Given the description of an element on the screen output the (x, y) to click on. 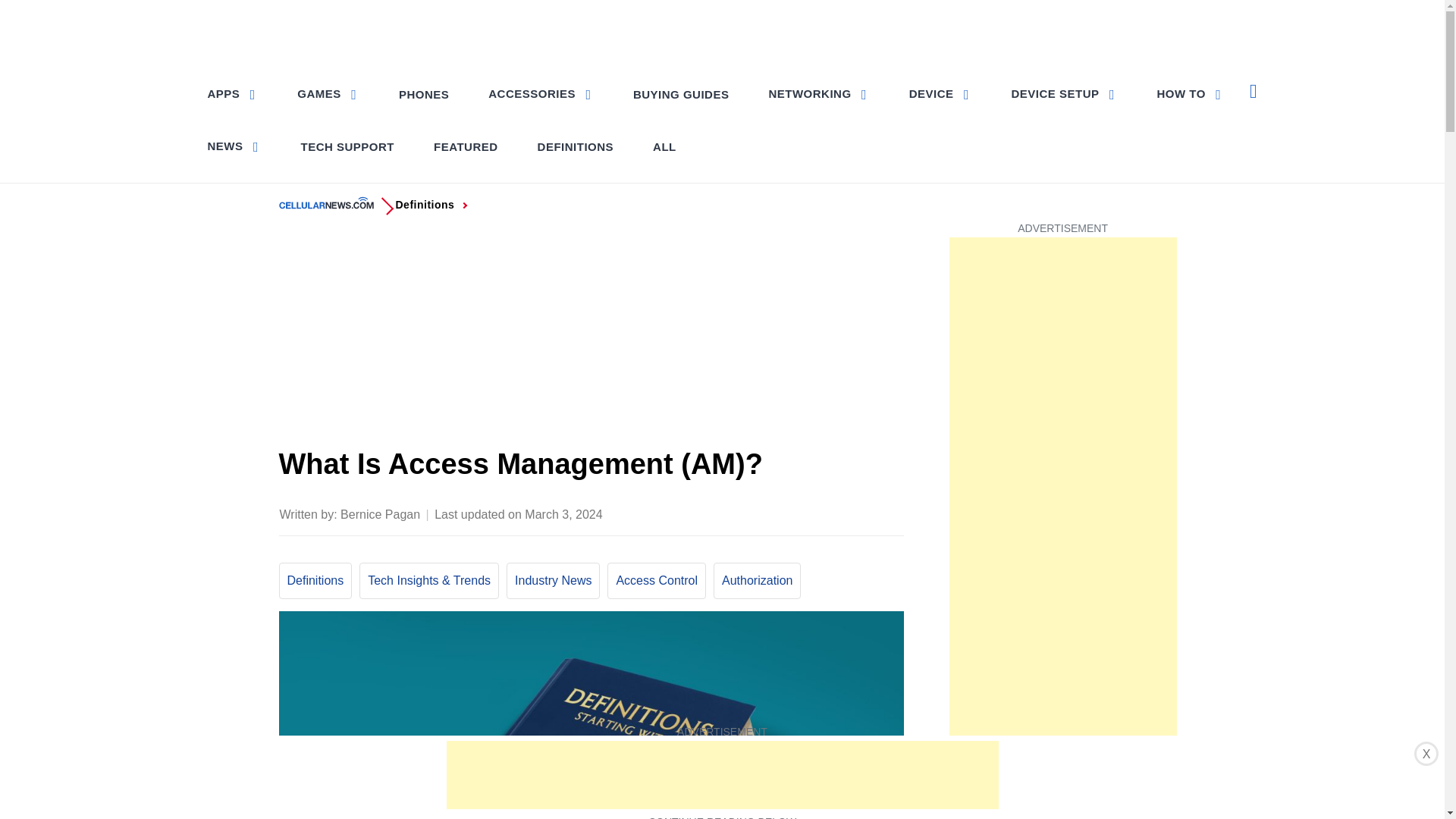
BUYING GUIDES (681, 94)
Share on Pinterest (800, 512)
GAMES (327, 93)
PHONES (424, 94)
Share on twitter (769, 512)
DEVICE (940, 93)
Advertisement (591, 336)
Share on Whatsapp (829, 512)
ACCESSORIES (540, 93)
Mail the Link (890, 512)
